Given the description of an element on the screen output the (x, y) to click on. 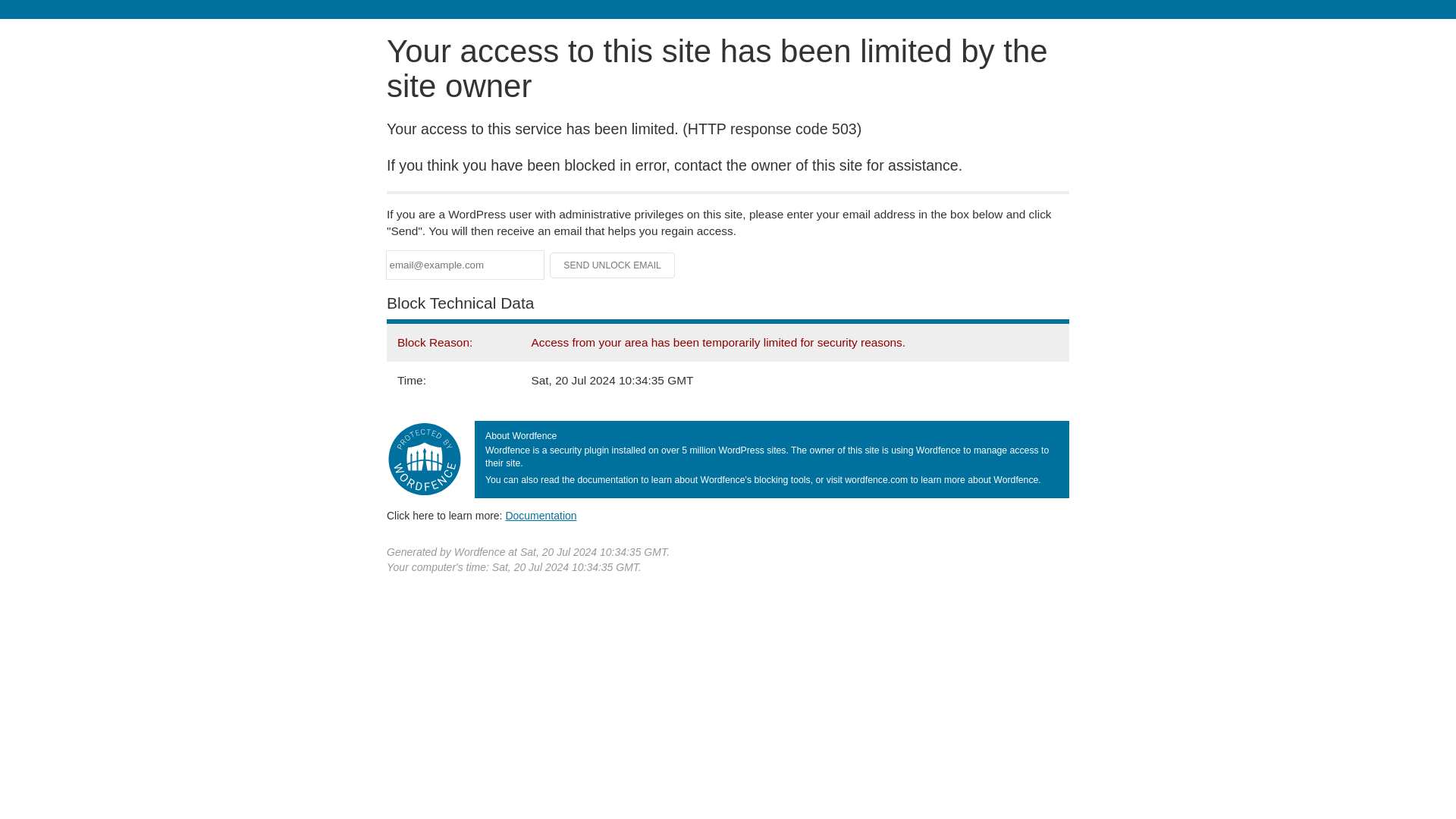
Send Unlock Email (612, 265)
Send Unlock Email (612, 265)
Documentation (540, 515)
